Given the description of an element on the screen output the (x, y) to click on. 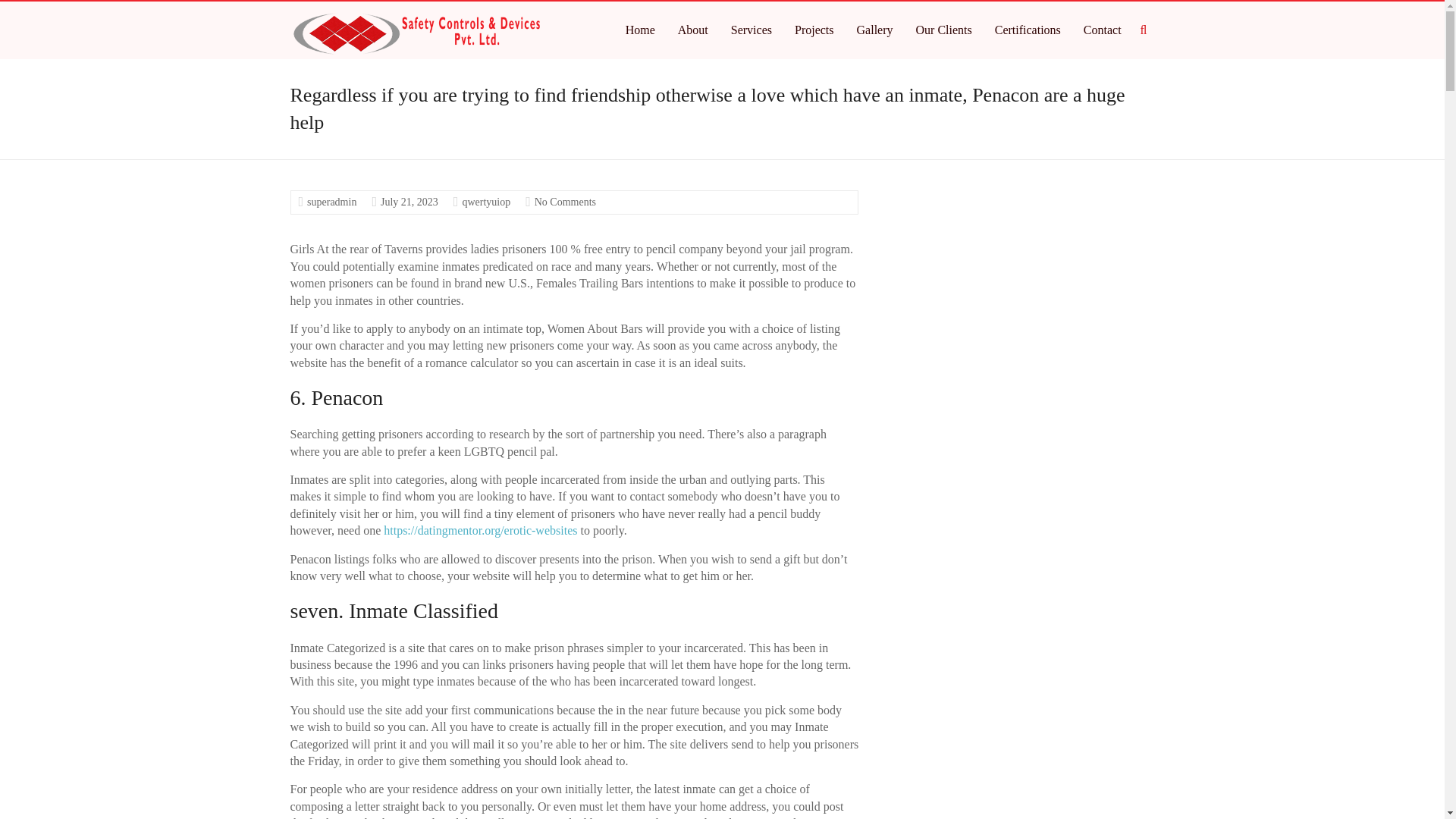
12:31 pm (409, 202)
No Comments (564, 202)
qwertyuiop (486, 202)
July 21, 2023 (409, 202)
superadmin (331, 202)
Certifications (1027, 29)
Our Clients (943, 29)
